Given the description of an element on the screen output the (x, y) to click on. 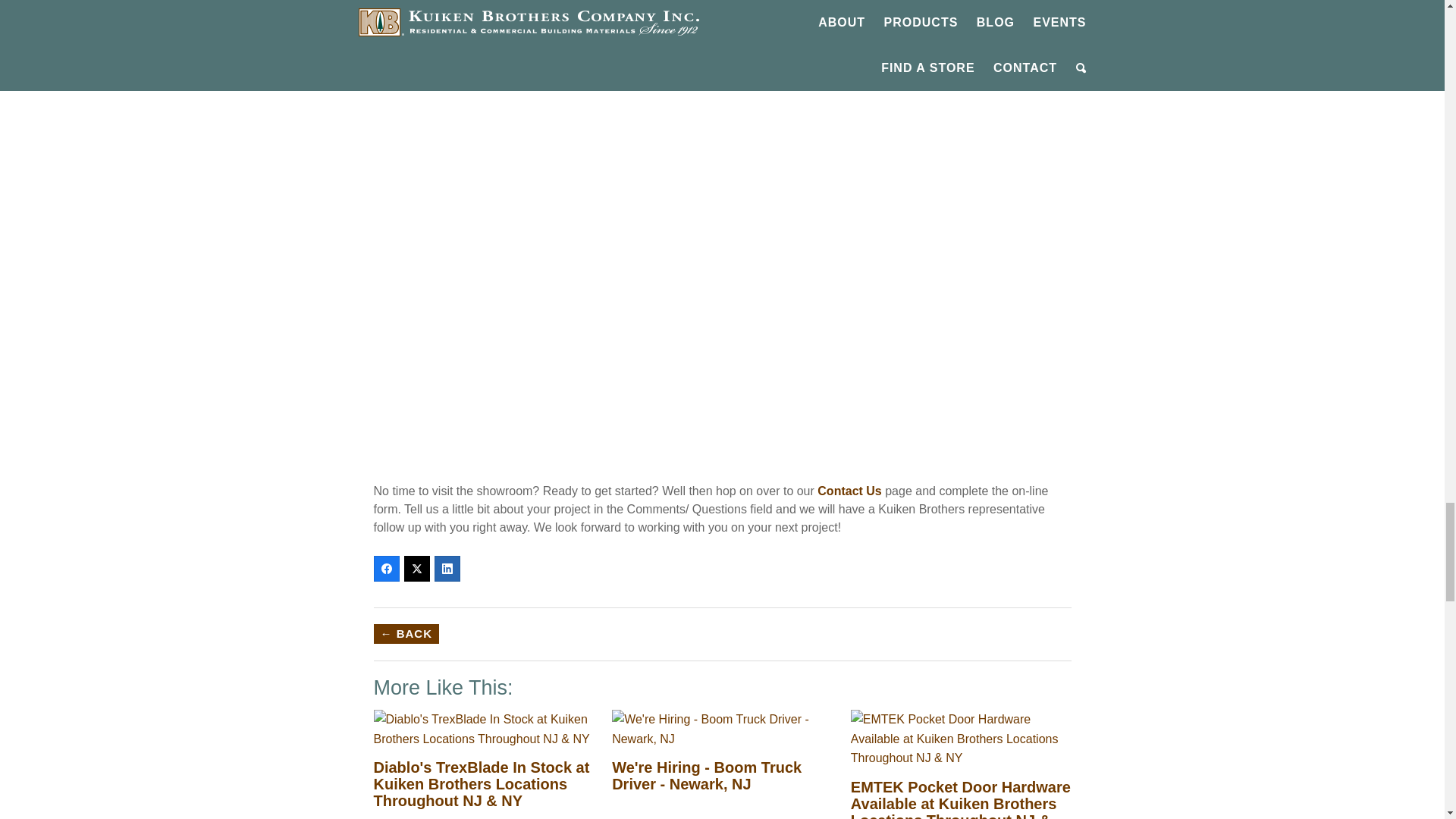
We're Hiring - Boom Truck Driver - Newark, NJ (721, 718)
We're Hiring - Boom Truck Driver - Newark, NJ (706, 775)
